Given the description of an element on the screen output the (x, y) to click on. 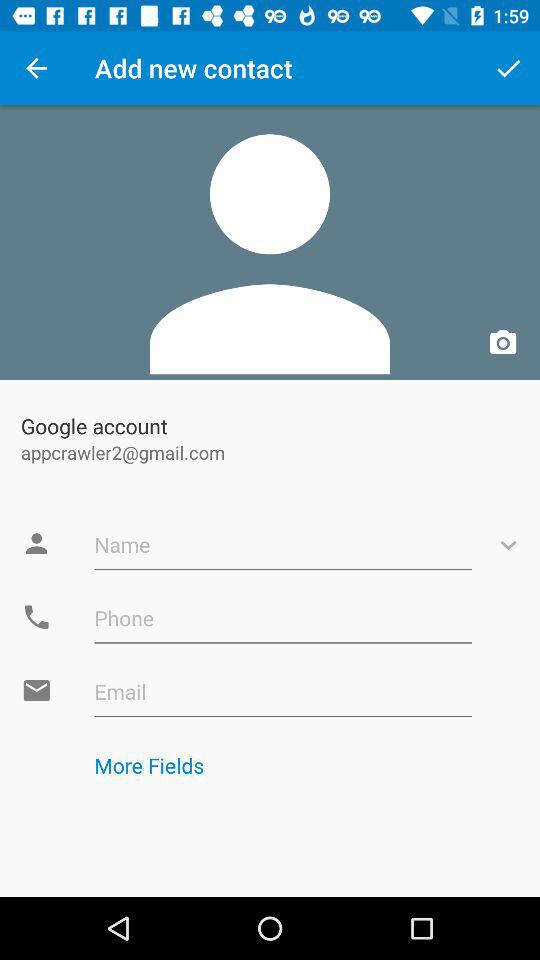
choose icon at the top right corner (508, 67)
